Given the description of an element on the screen output the (x, y) to click on. 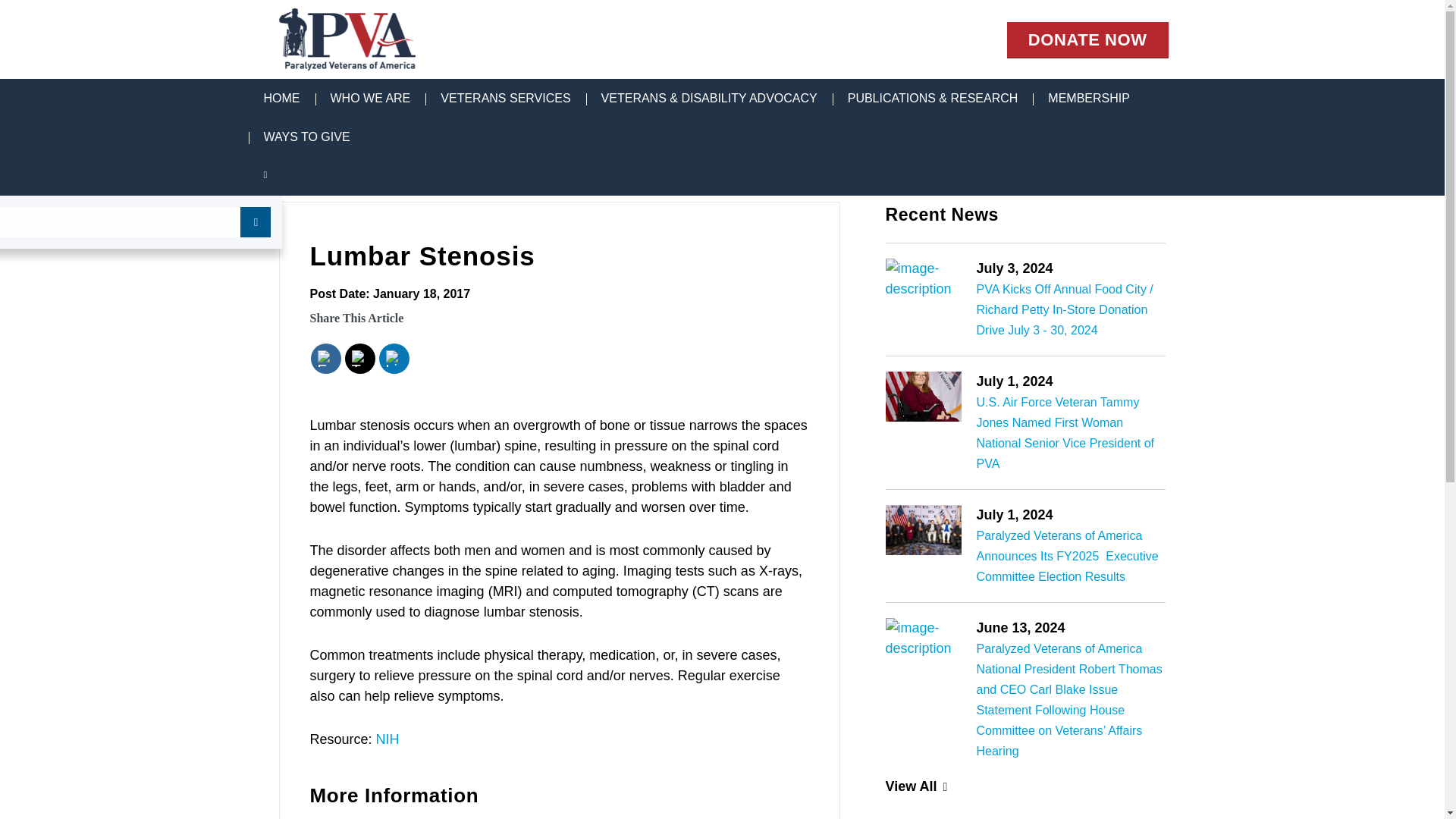
Facebook (325, 358)
WHO WE ARE (370, 98)
LinkedIn (393, 358)
HOME (281, 98)
Twitter (360, 358)
DONATE NOW (1088, 40)
VETERANS SERVICES (505, 98)
